Given the description of an element on the screen output the (x, y) to click on. 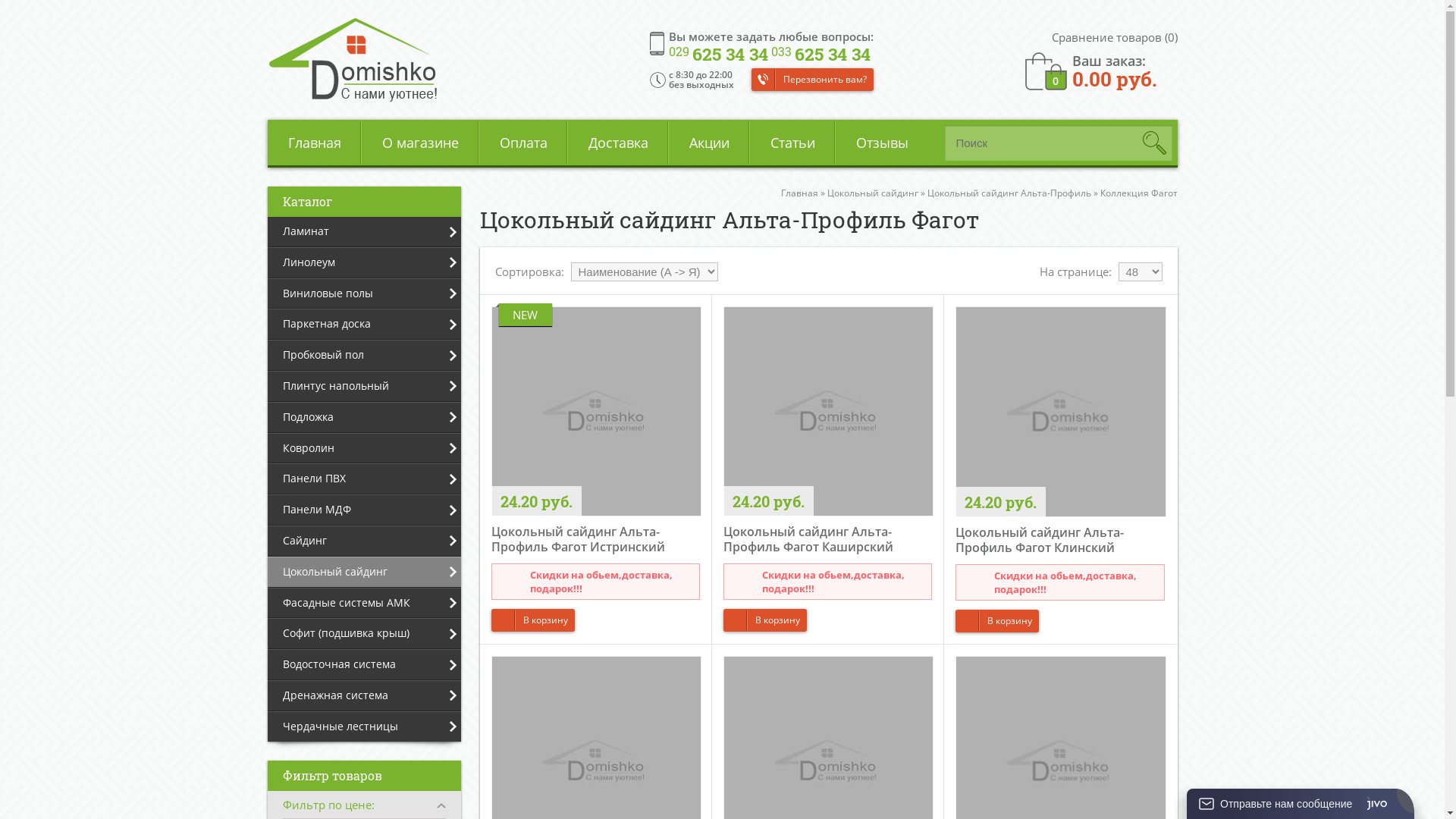
033 625 34 34 Element type: text (819, 54)
Domishko.by Element type: hover (351, 59)
029 625 34 34 Element type: text (718, 54)
